Given the description of an element on the screen output the (x, y) to click on. 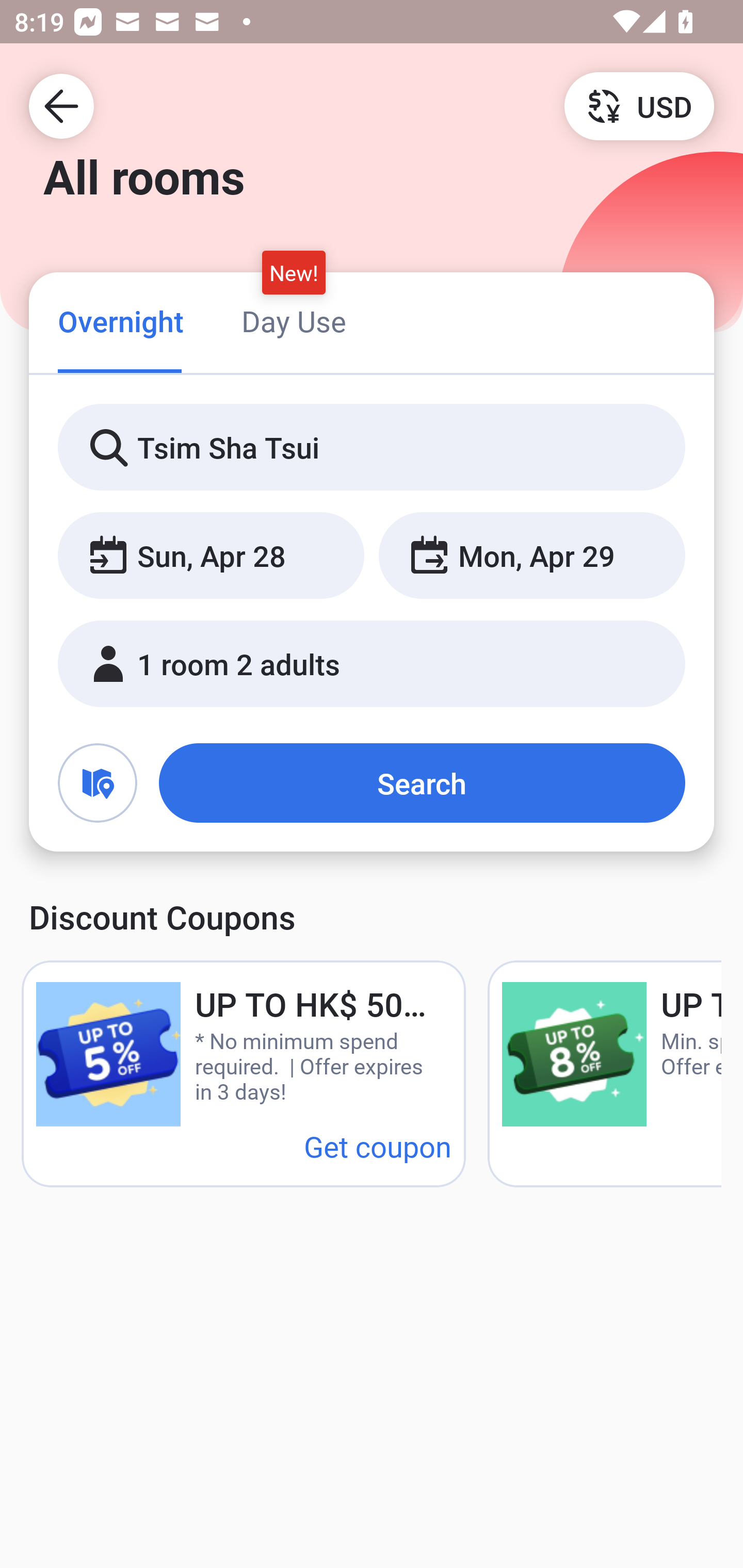
USD (639, 105)
New! (294, 272)
Day Use (293, 321)
Tsim Sha Tsui (371, 447)
Sun, Apr 28 (210, 555)
Mon, Apr 29 (531, 555)
1 room 2 adults (371, 663)
Search (422, 783)
Get coupon (377, 1146)
